Given the description of an element on the screen output the (x, y) to click on. 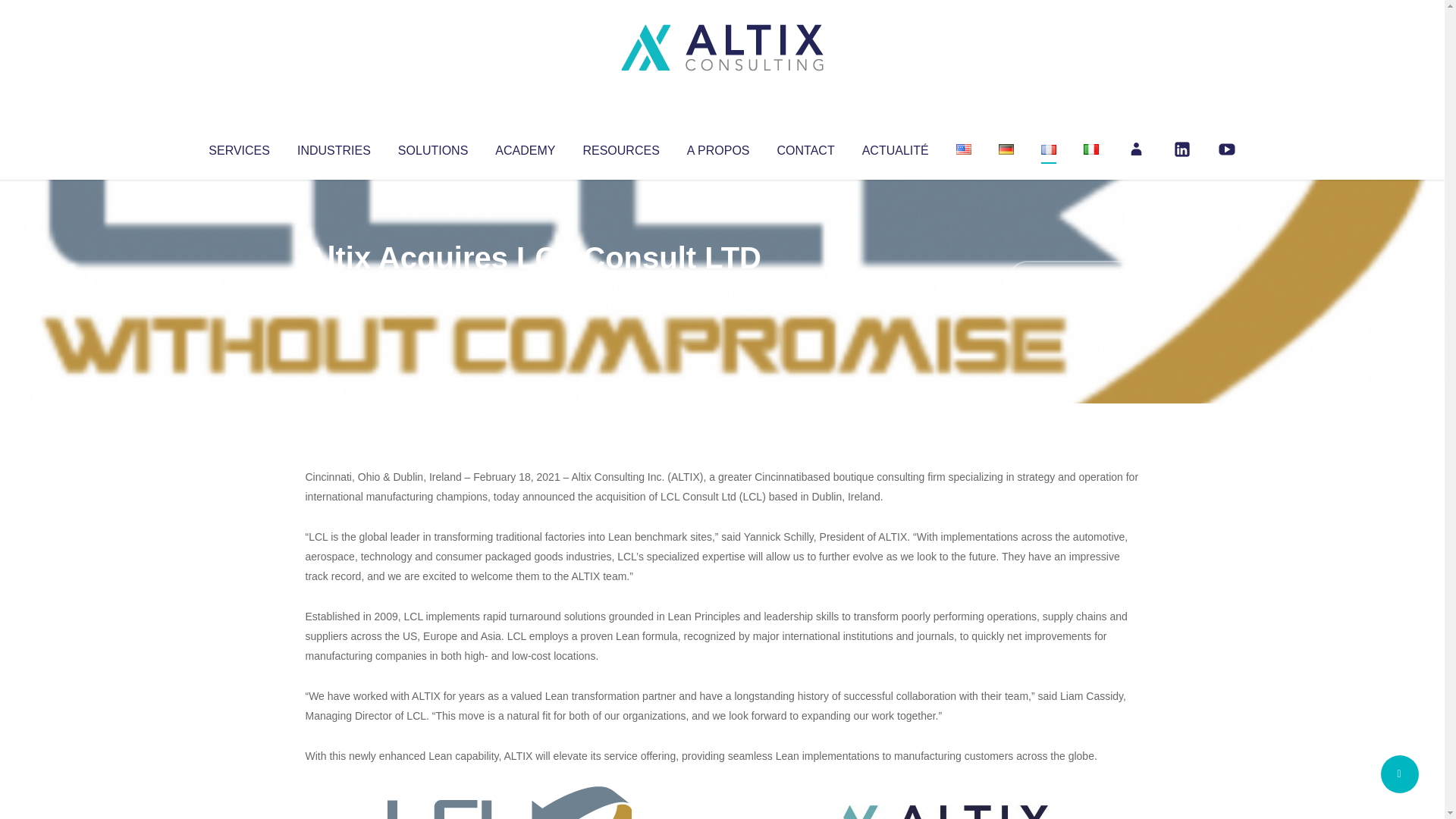
SOLUTIONS (432, 146)
SERVICES (238, 146)
ACADEMY (524, 146)
No Comments (1073, 278)
RESOURCES (620, 146)
Uncategorized (530, 287)
Articles par Altix (333, 287)
Altix (333, 287)
INDUSTRIES (334, 146)
A PROPOS (718, 146)
